Given the description of an element on the screen output the (x, y) to click on. 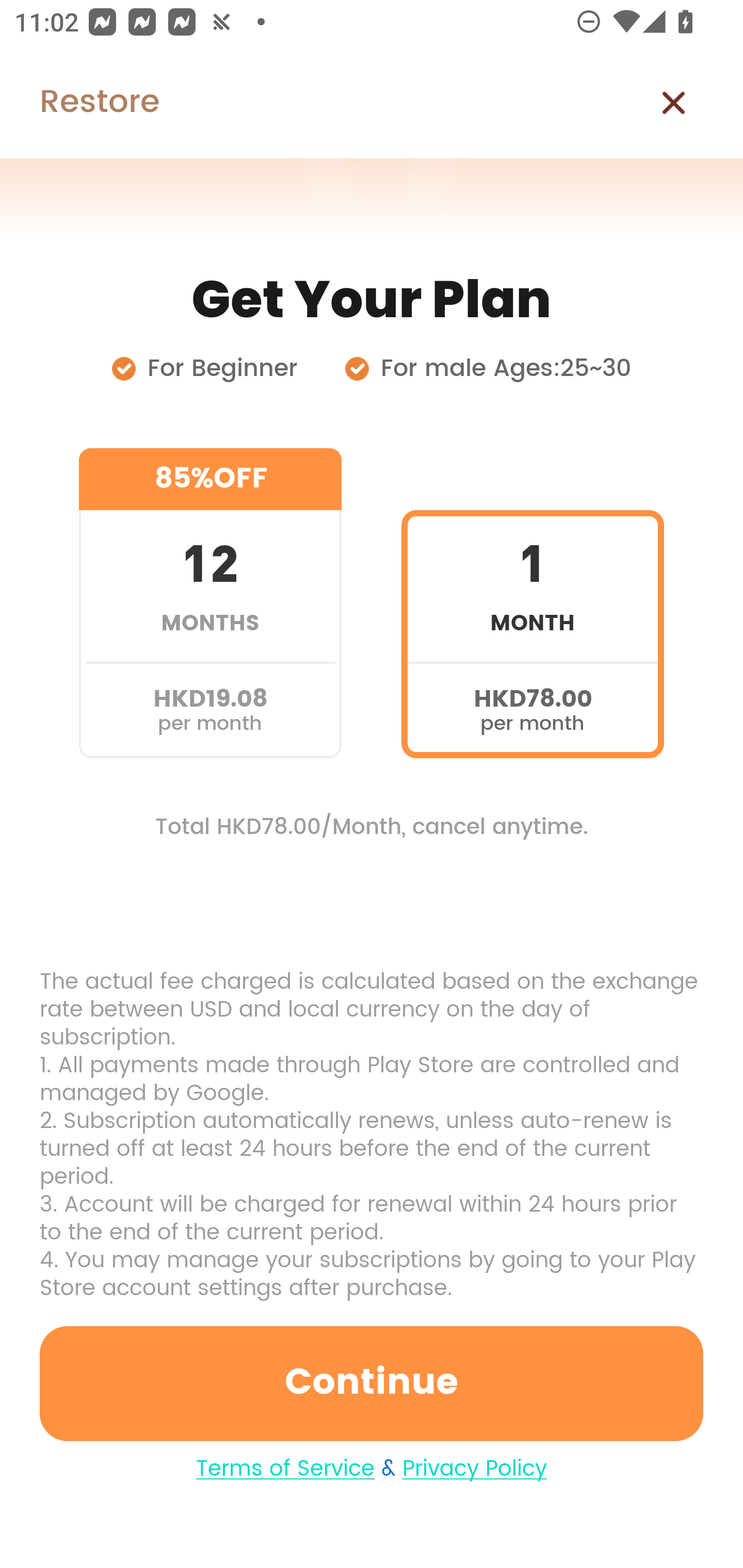
Restore (79, 102)
85%OFF 12 MONTHS per month HKD19.08 (209, 603)
1 MONTH per month HKD78.00 (532, 603)
Continue (371, 1383)
